Given the description of an element on the screen output the (x, y) to click on. 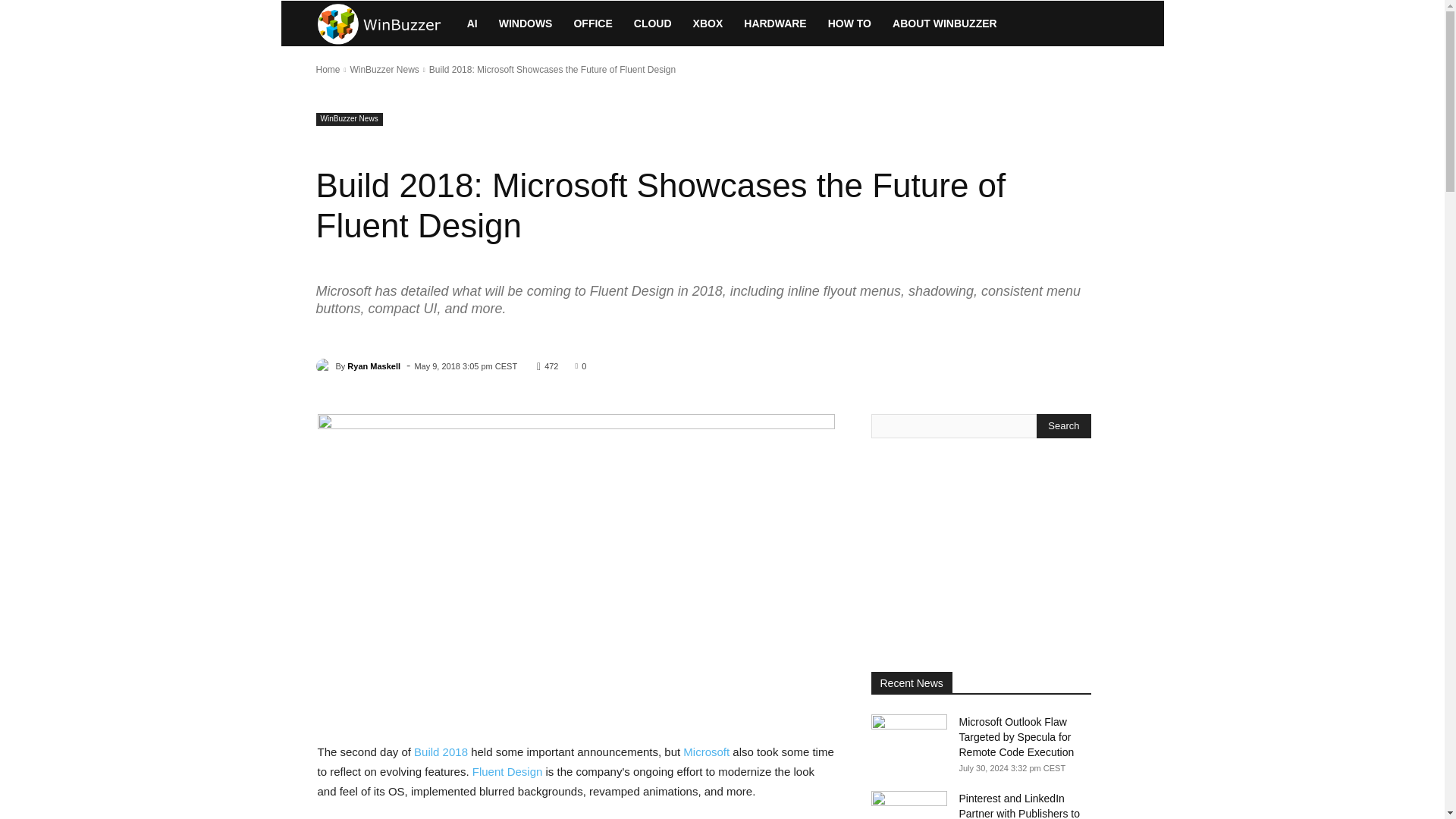
Search (1063, 426)
Posts tagged with Build 2018 (440, 751)
View all posts in WinBuzzer News (384, 69)
Posts tagged with Microsoft (705, 751)
Ryan Maskell (324, 365)
